Given the description of an element on the screen output the (x, y) to click on. 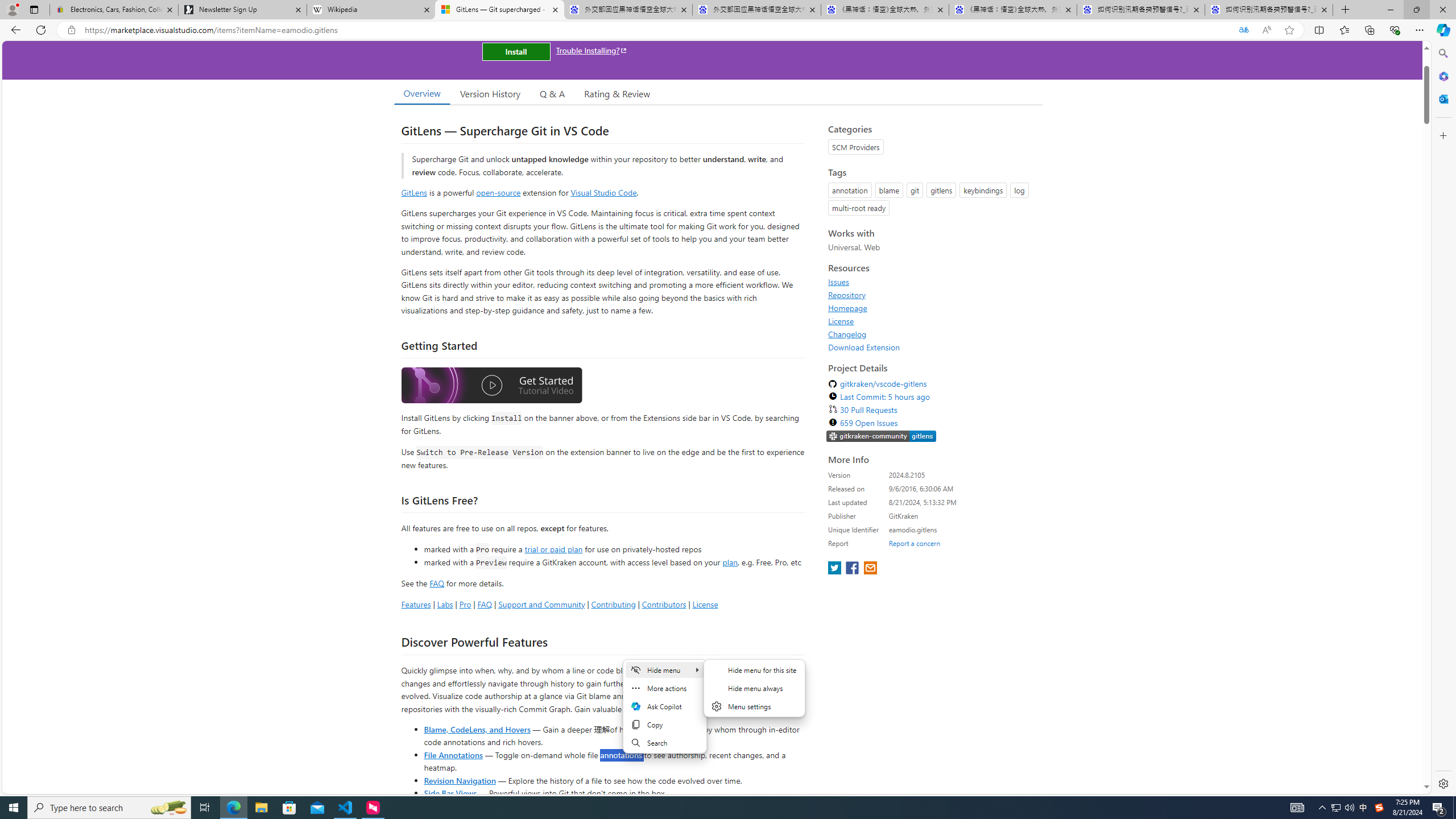
Watch the GitLens Getting Started video (491, 385)
https://slack.gitkraken.com// (881, 436)
Contributing (613, 603)
License (931, 320)
Ask Copilot (664, 705)
